Given the description of an element on the screen output the (x, y) to click on. 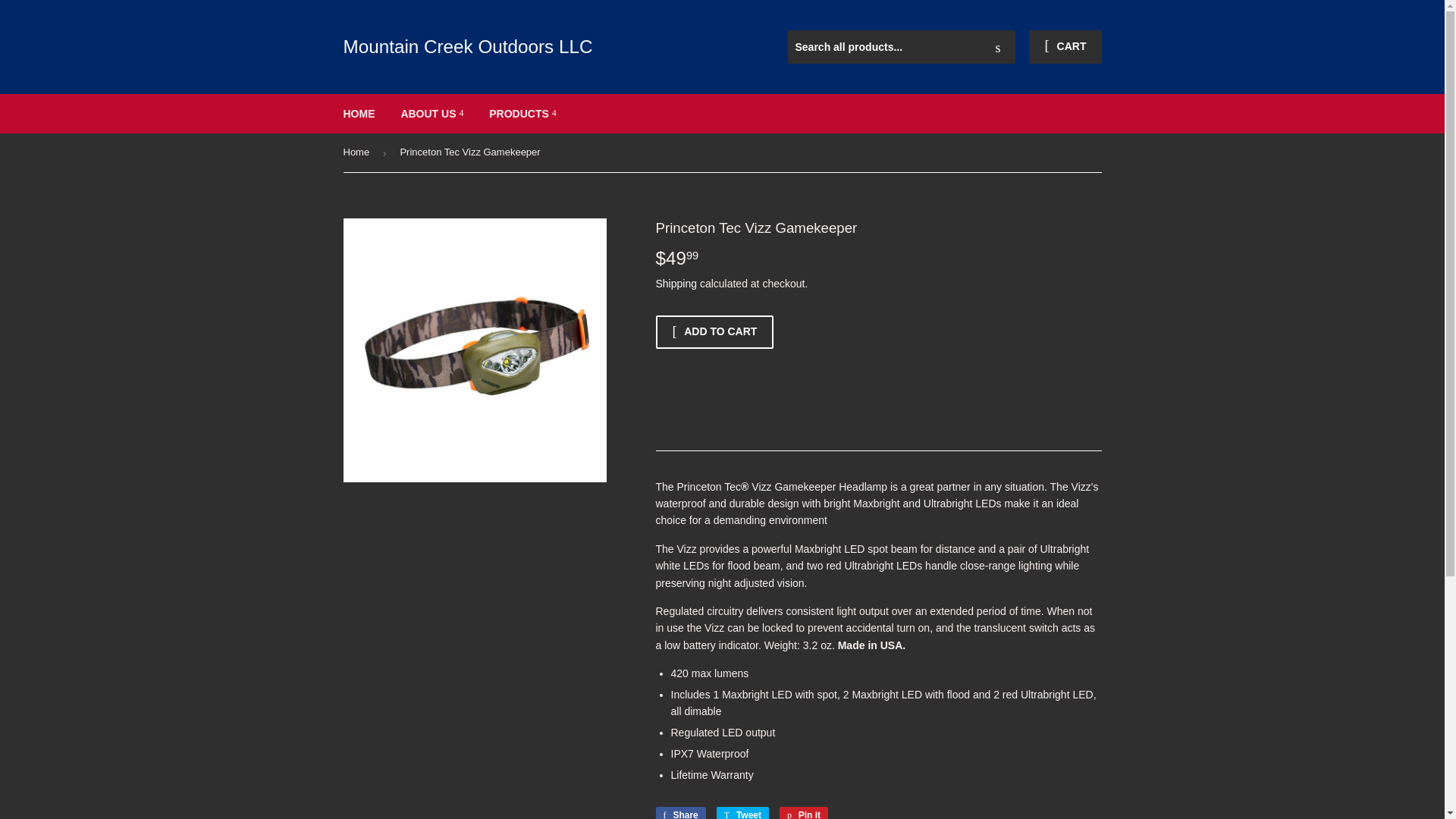
Tweet on Twitter (742, 812)
Pin on Pinterest (803, 812)
Search (997, 47)
CART (1064, 46)
ABOUT US (431, 113)
PRODUCTS (522, 113)
Share on Facebook (679, 812)
Mountain Creek Outdoors LLC (532, 46)
HOME (359, 113)
